Given the description of an element on the screen output the (x, y) to click on. 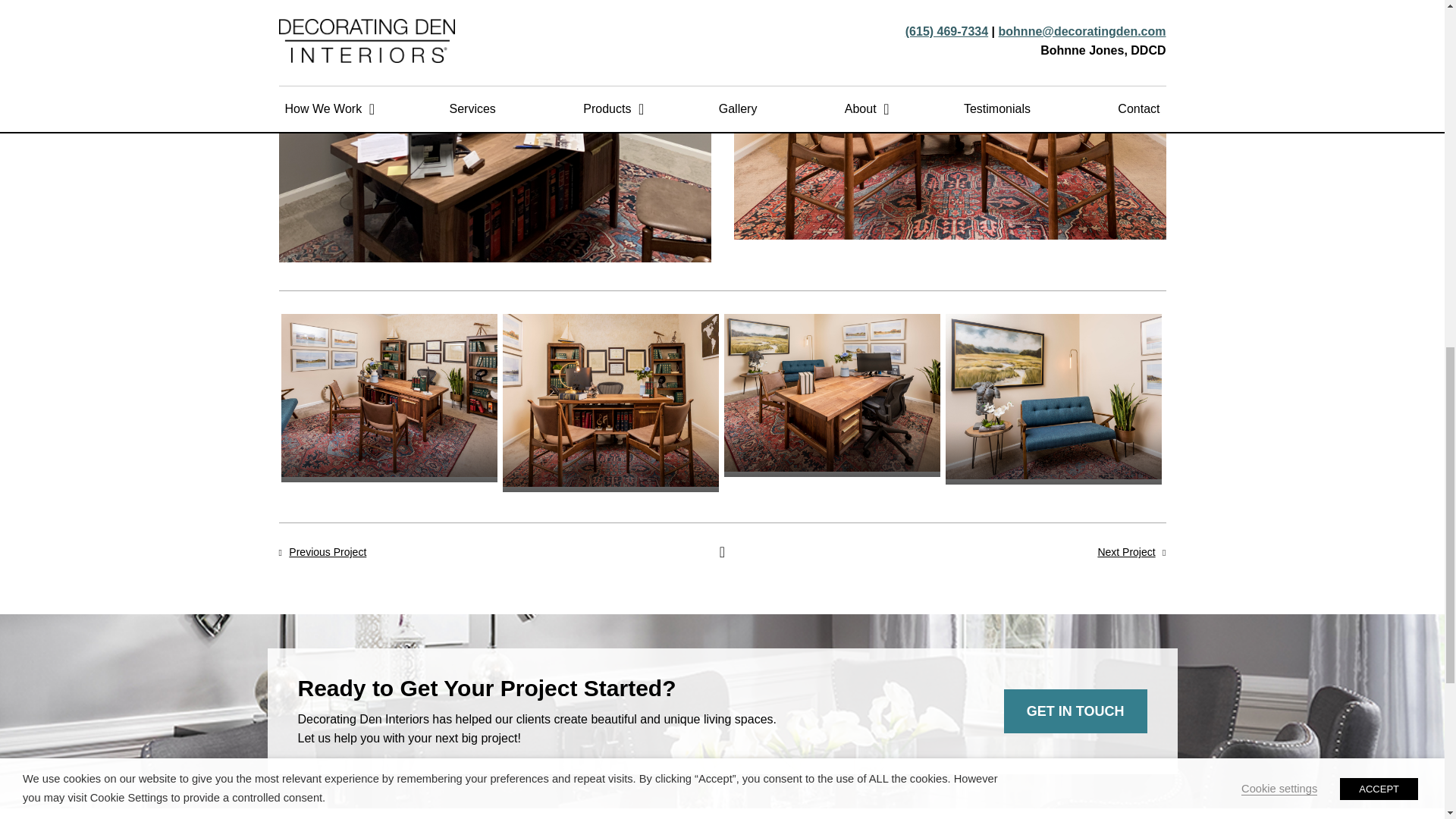
GET IN TOUCH (1075, 711)
Next Project (1125, 551)
Previous Project (327, 551)
